Given the description of an element on the screen output the (x, y) to click on. 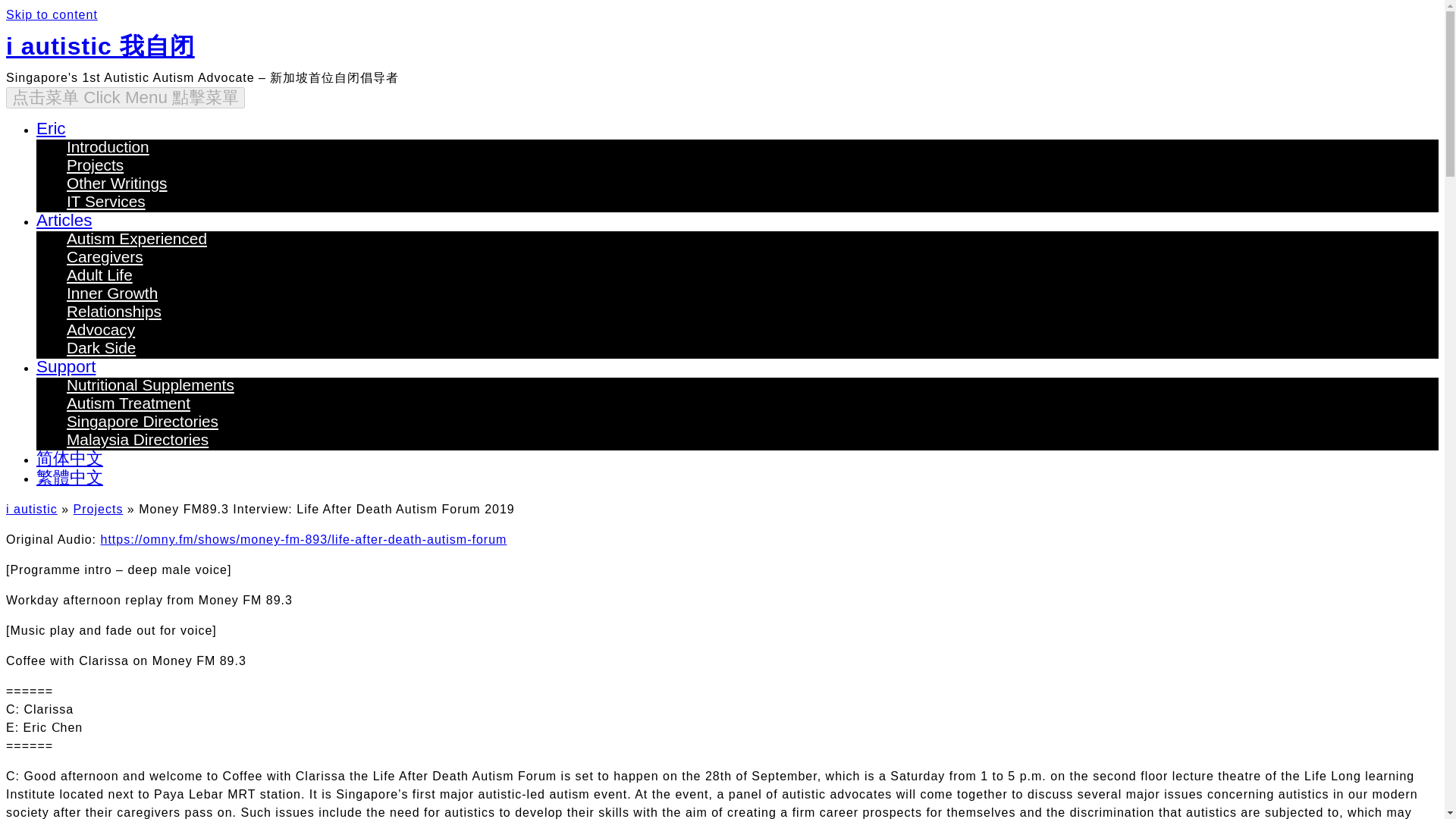
i autistic (31, 508)
Introduction (107, 146)
IT Services (105, 200)
Autism Experienced (136, 238)
Singapore Directories (142, 420)
Caregivers (104, 256)
Projects (94, 164)
Articles (63, 220)
Autism Treatment (128, 402)
Eric (50, 128)
